Given the description of an element on the screen output the (x, y) to click on. 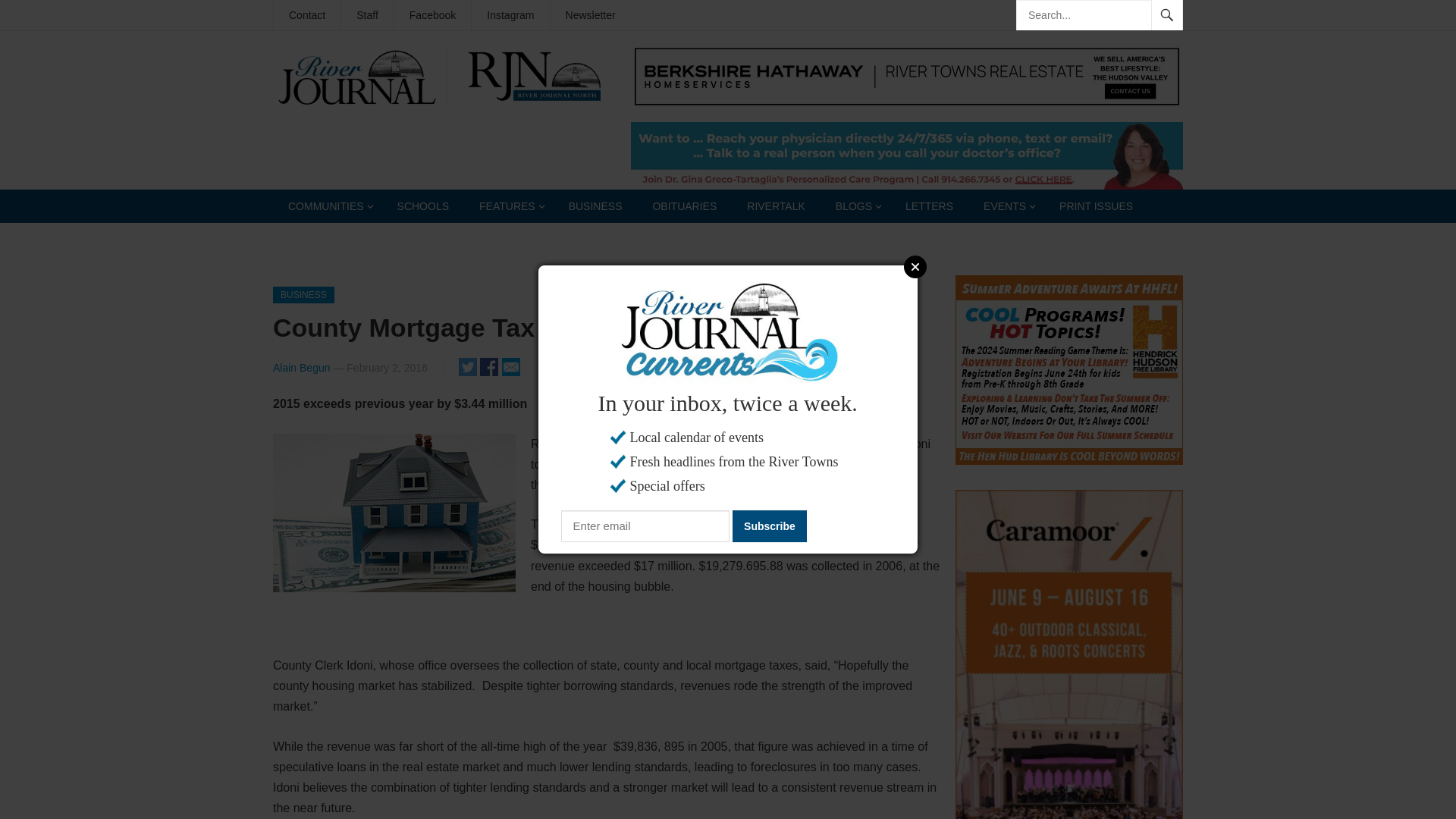
FEATURES (508, 205)
Instagram (509, 15)
Subscribe (769, 526)
SCHOOLS (422, 205)
Staff (366, 15)
Posts by Alain Begun (301, 367)
Newsletter (590, 15)
COMMUNITIES (327, 205)
Facebook (432, 15)
BUSINESS (595, 205)
Contact (306, 15)
View all posts in Business (303, 294)
